Given the description of an element on the screen output the (x, y) to click on. 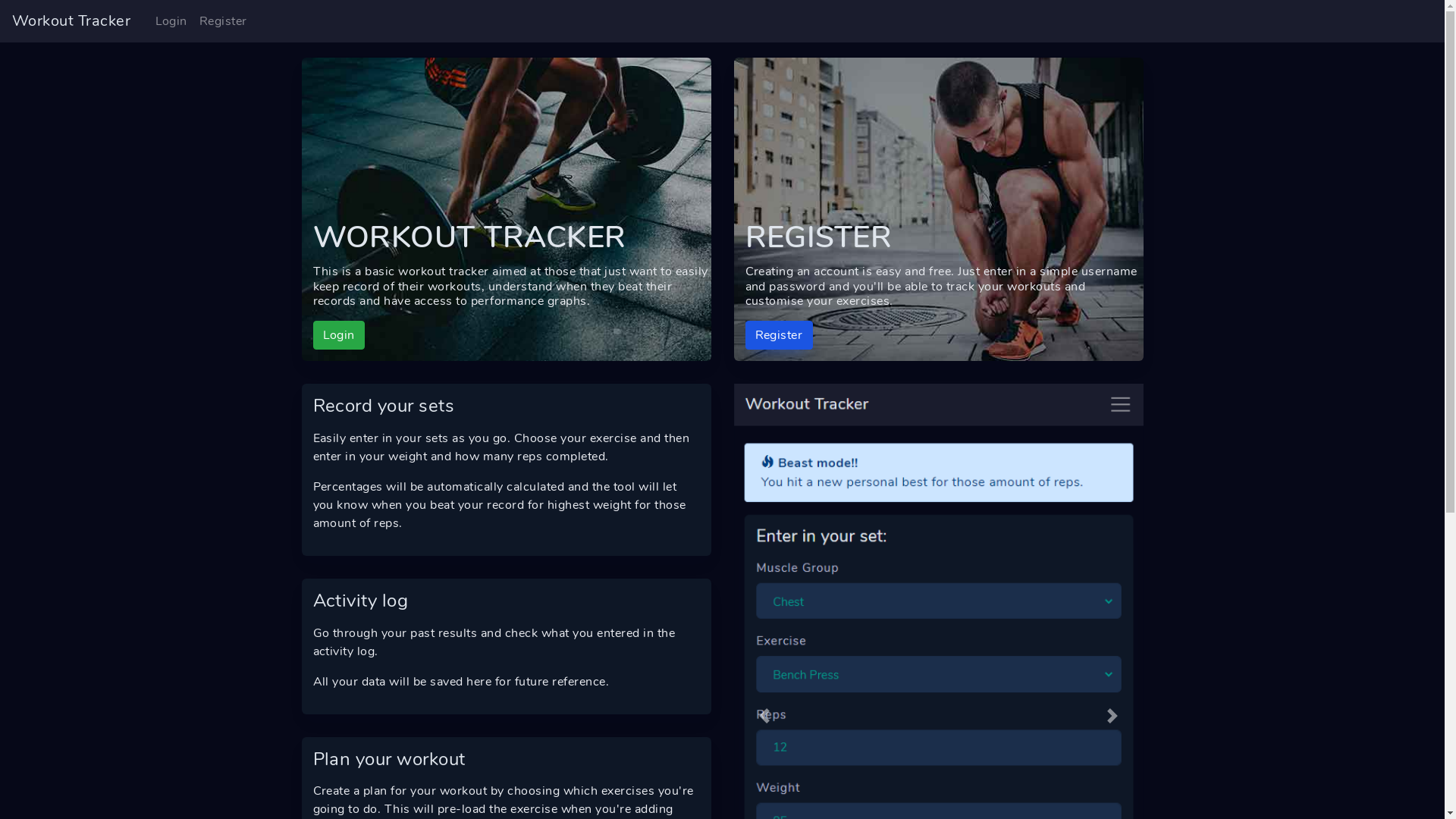
Workout Tracker Element type: text (71, 20)
Register Element type: text (778, 334)
Register Element type: text (223, 21)
Login Element type: text (338, 334)
Login Element type: text (170, 21)
